Given the description of an element on the screen output the (x, y) to click on. 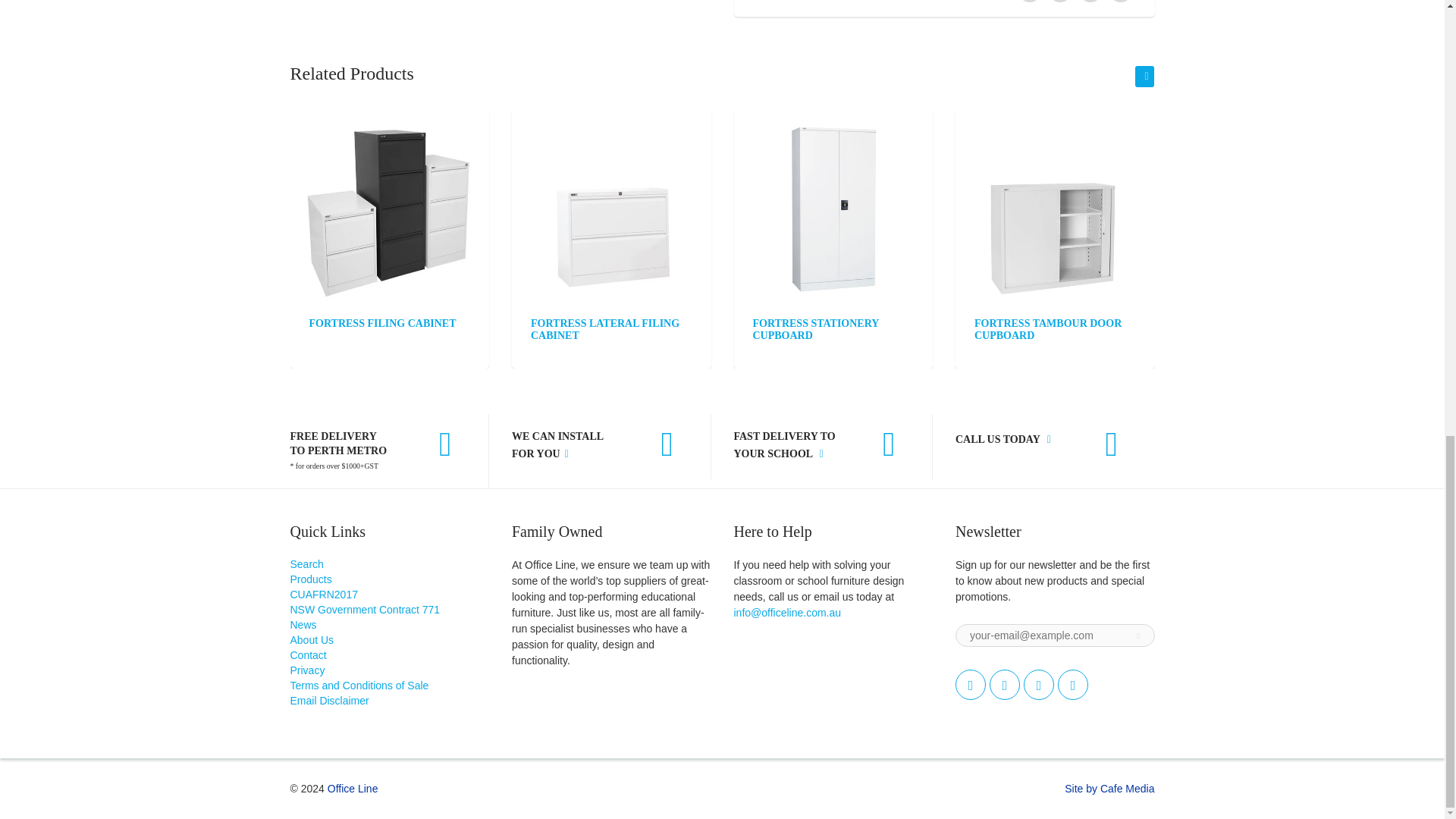
Instagram (1038, 684)
Facebook (1005, 684)
Twitter (970, 684)
linkedin (1072, 684)
